Given the description of an element on the screen output the (x, y) to click on. 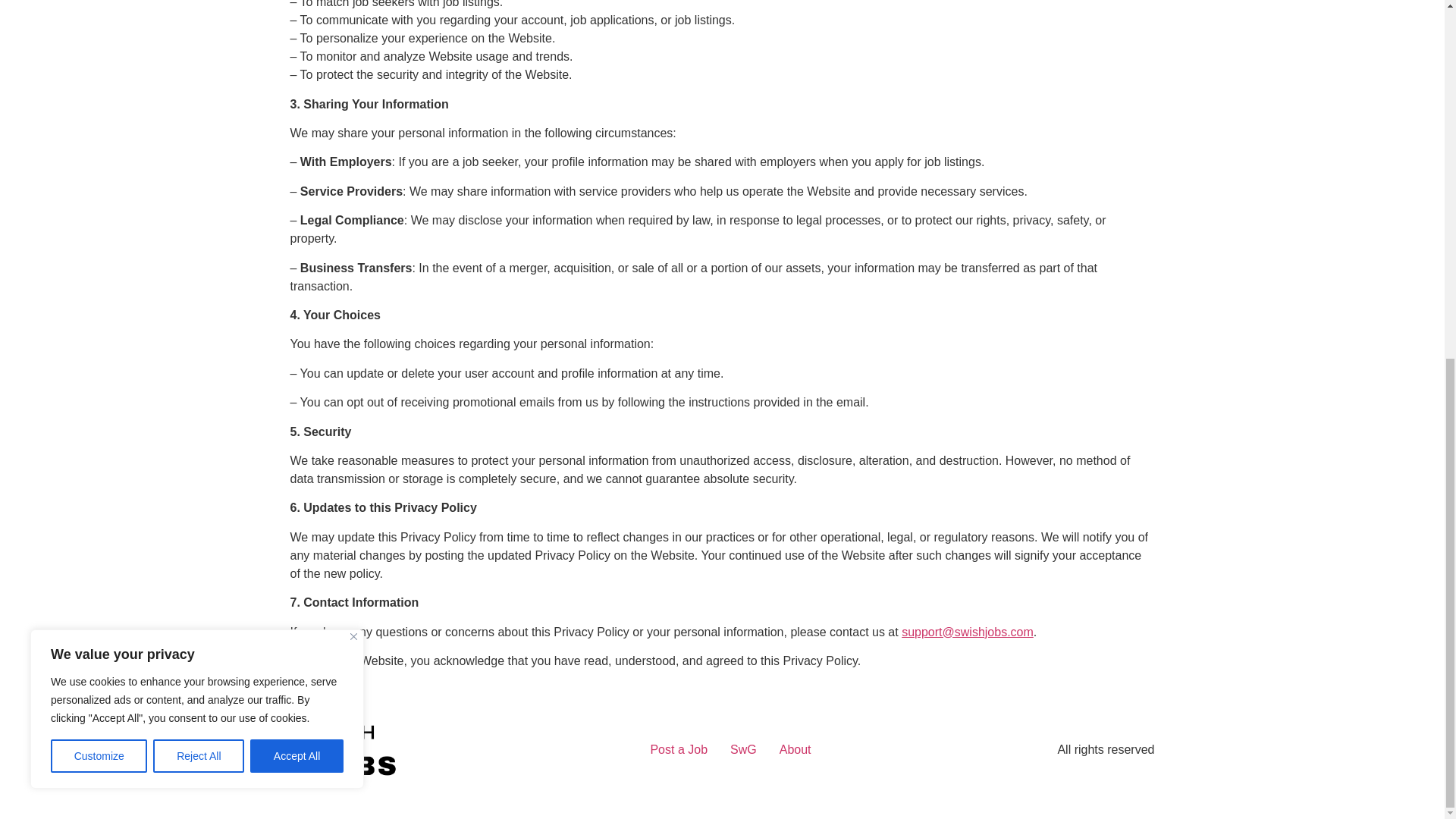
About (795, 749)
Accept All (296, 121)
Post a Job (679, 749)
SwG (743, 749)
Customize (98, 121)
Reject All (198, 121)
